Given the description of an element on the screen output the (x, y) to click on. 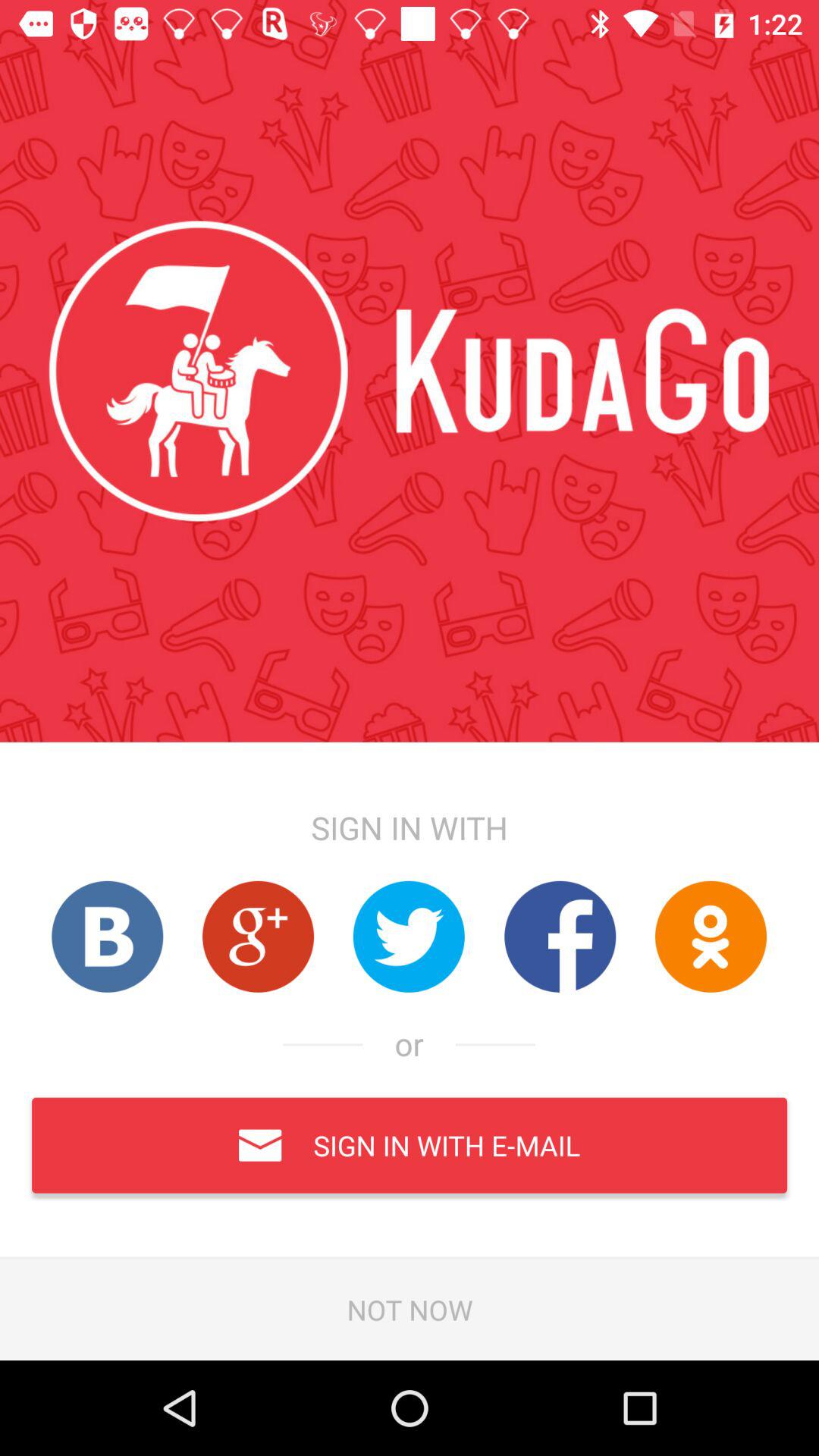
twitter link (408, 936)
